Given the description of an element on the screen output the (x, y) to click on. 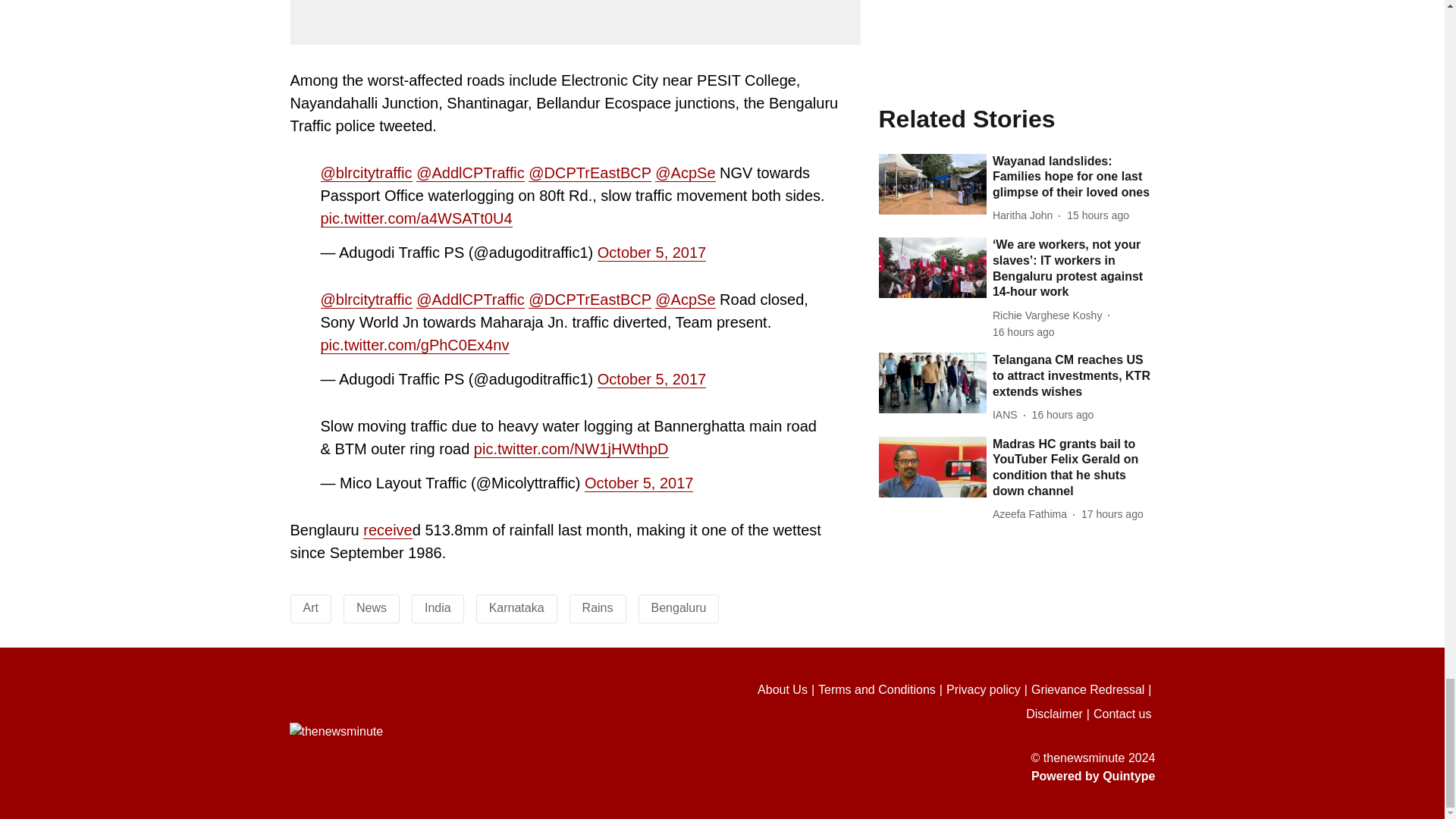
Art (310, 607)
October 5, 2017 (651, 379)
October 5, 2017 (639, 483)
October 5, 2017 (651, 252)
receive (387, 529)
News (371, 607)
